Given the description of an element on the screen output the (x, y) to click on. 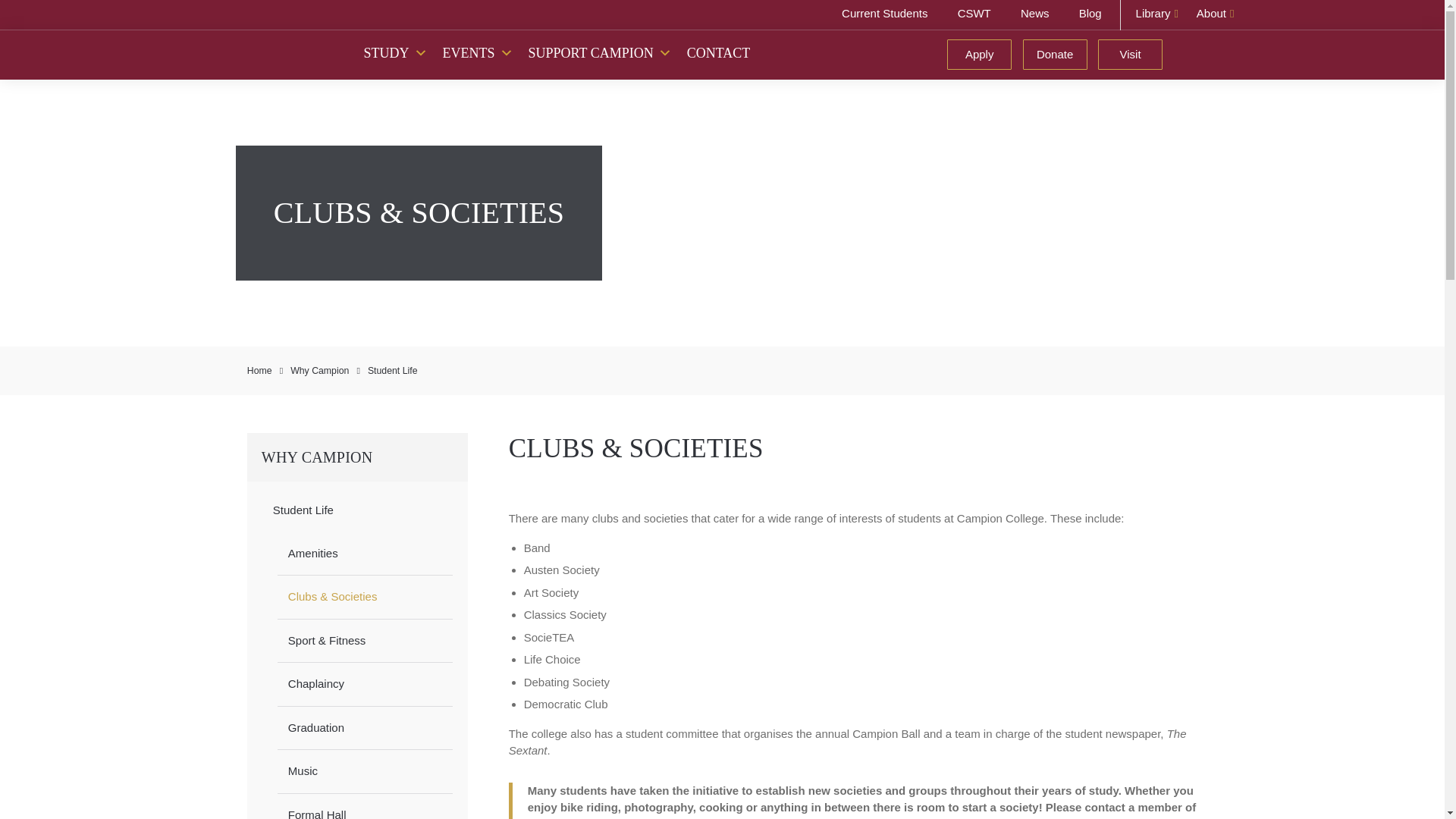
News (1027, 15)
Current Students (877, 15)
Library (1157, 15)
About (1215, 15)
STUDY (395, 52)
CSWT (965, 15)
Blog (1082, 15)
